Given the description of an element on the screen output the (x, y) to click on. 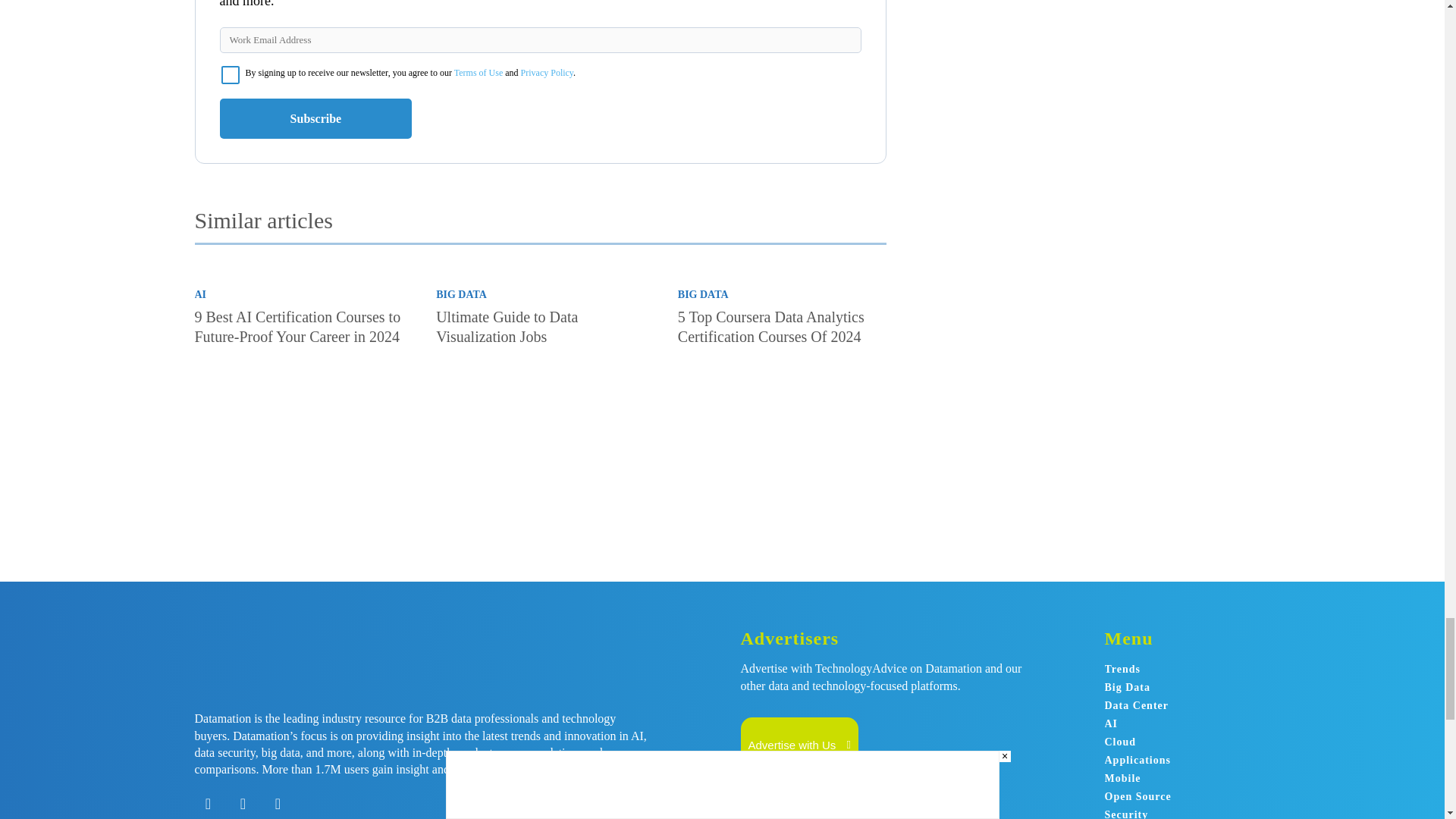
Ultimate Guide to Data Visualization Jobs (506, 326)
5 Top Coursera Data Analytics Certification Courses Of 2024 (771, 326)
on (230, 75)
5 Top Coursera Data Analytics Certification Courses Of 2024 (782, 423)
Ultimate Guide to Data Visualization Jobs (540, 423)
